Given the description of an element on the screen output the (x, y) to click on. 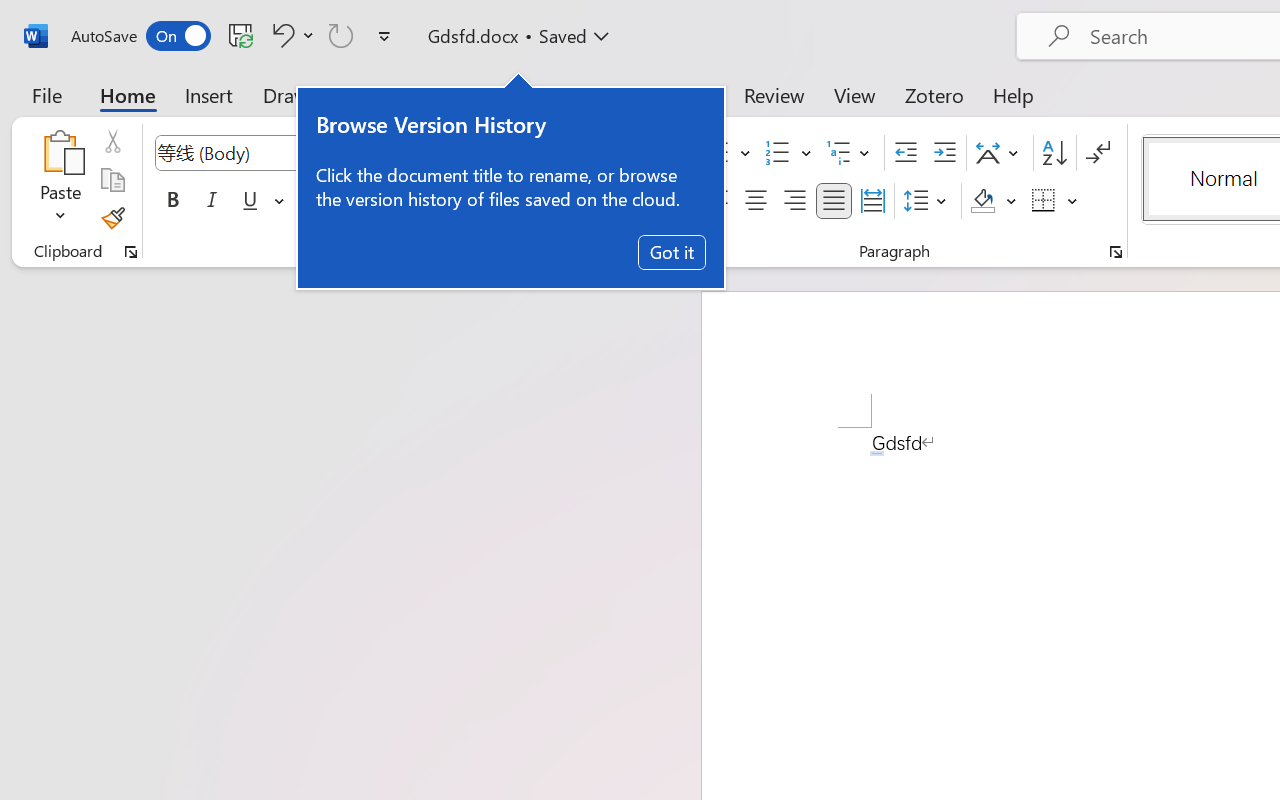
Distributed (872, 201)
Grow Font (430, 153)
Italic (212, 201)
Subscript (350, 201)
Shading (993, 201)
